Given the description of an element on the screen output the (x, y) to click on. 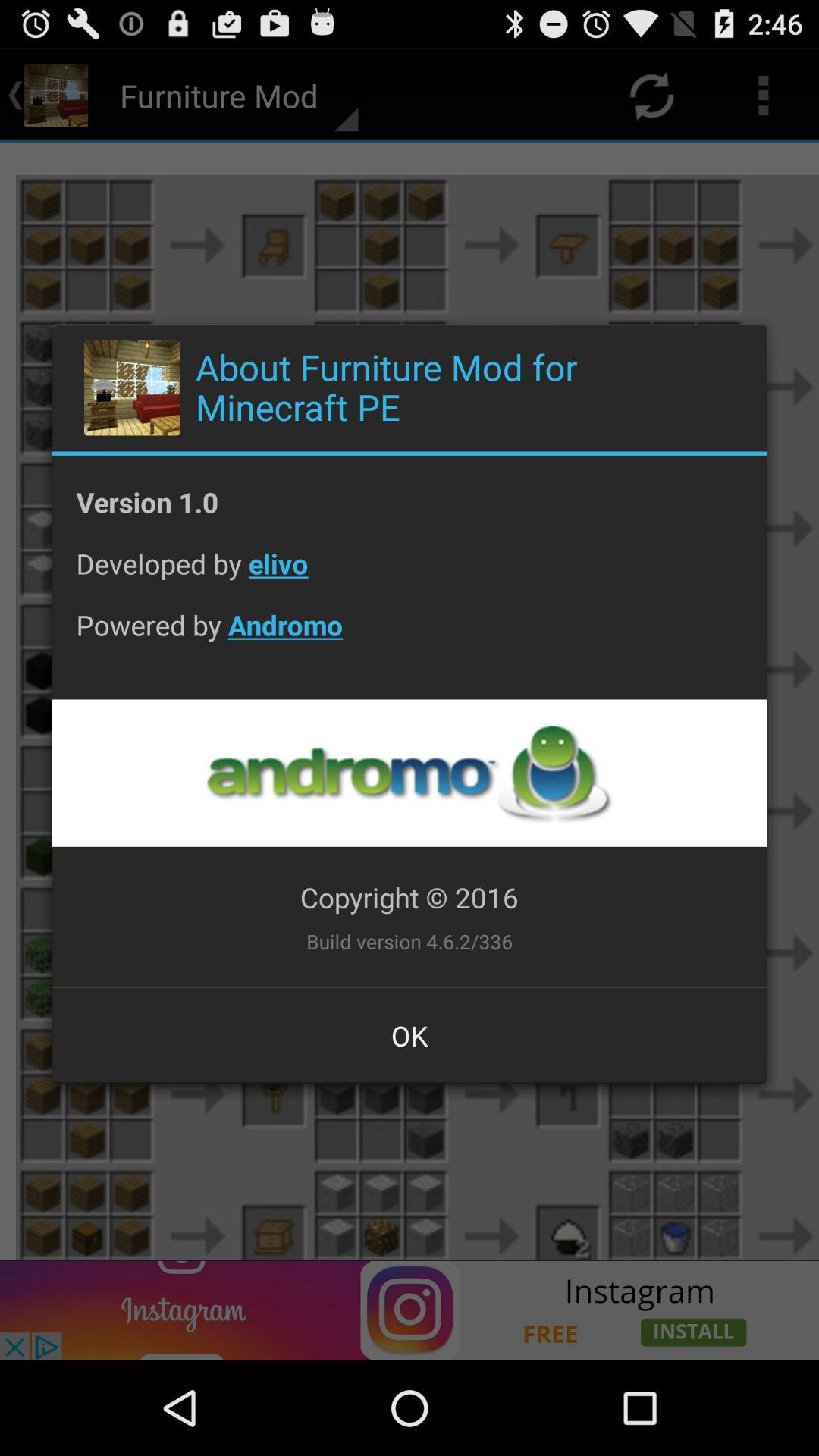
select the icon below the developed by elivo icon (409, 636)
